Given the description of an element on the screen output the (x, y) to click on. 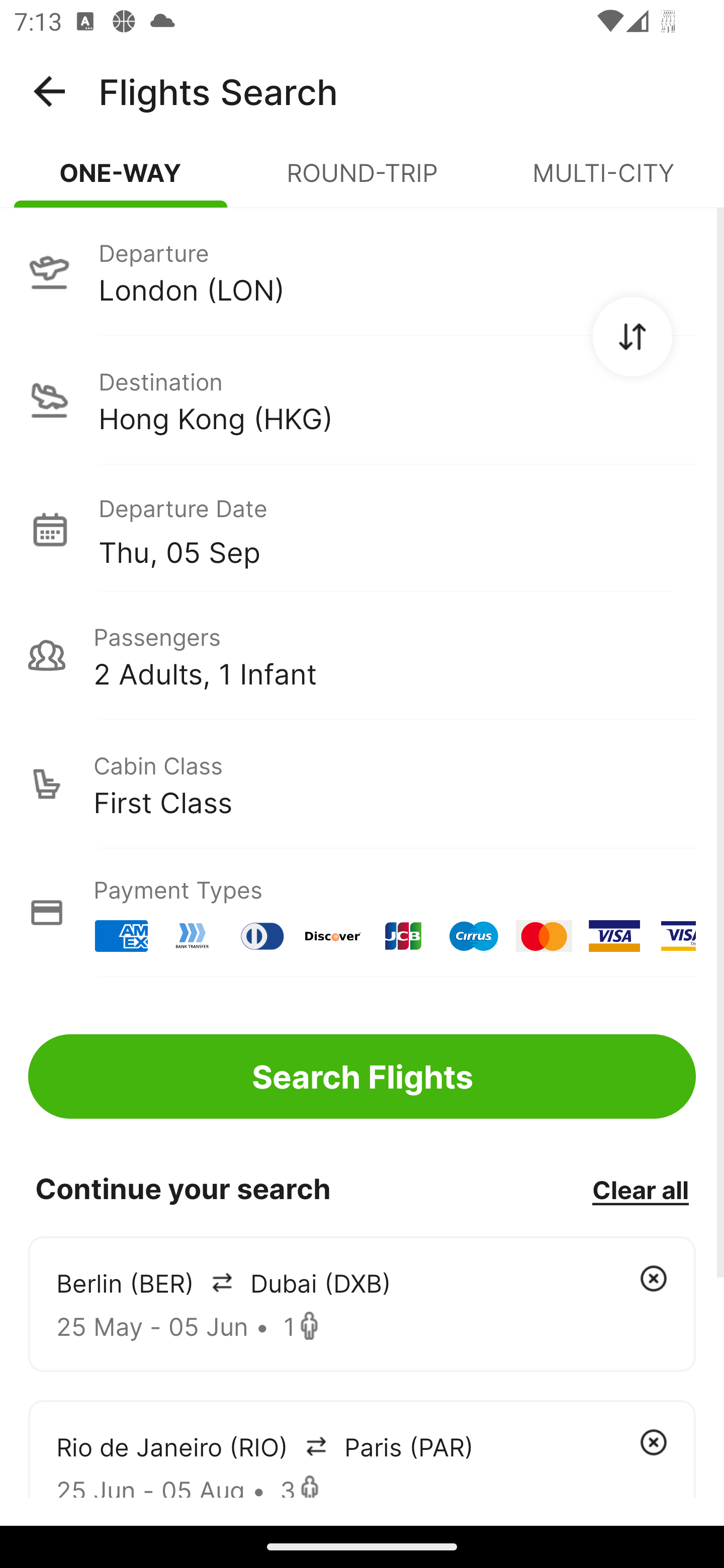
ONE-WAY (120, 180)
ROUND-TRIP (361, 180)
MULTI-CITY (603, 180)
Departure London (LON) (362, 270)
Destination Hong Kong (HKG) (362, 400)
Departure Date Thu, 05 Sep (396, 528)
Passengers 2 Adults, 1 Infant (362, 655)
Cabin Class First Class (362, 783)
Payment Types (362, 912)
Search Flights (361, 1075)
Clear all (640, 1189)
